Given the description of an element on the screen output the (x, y) to click on. 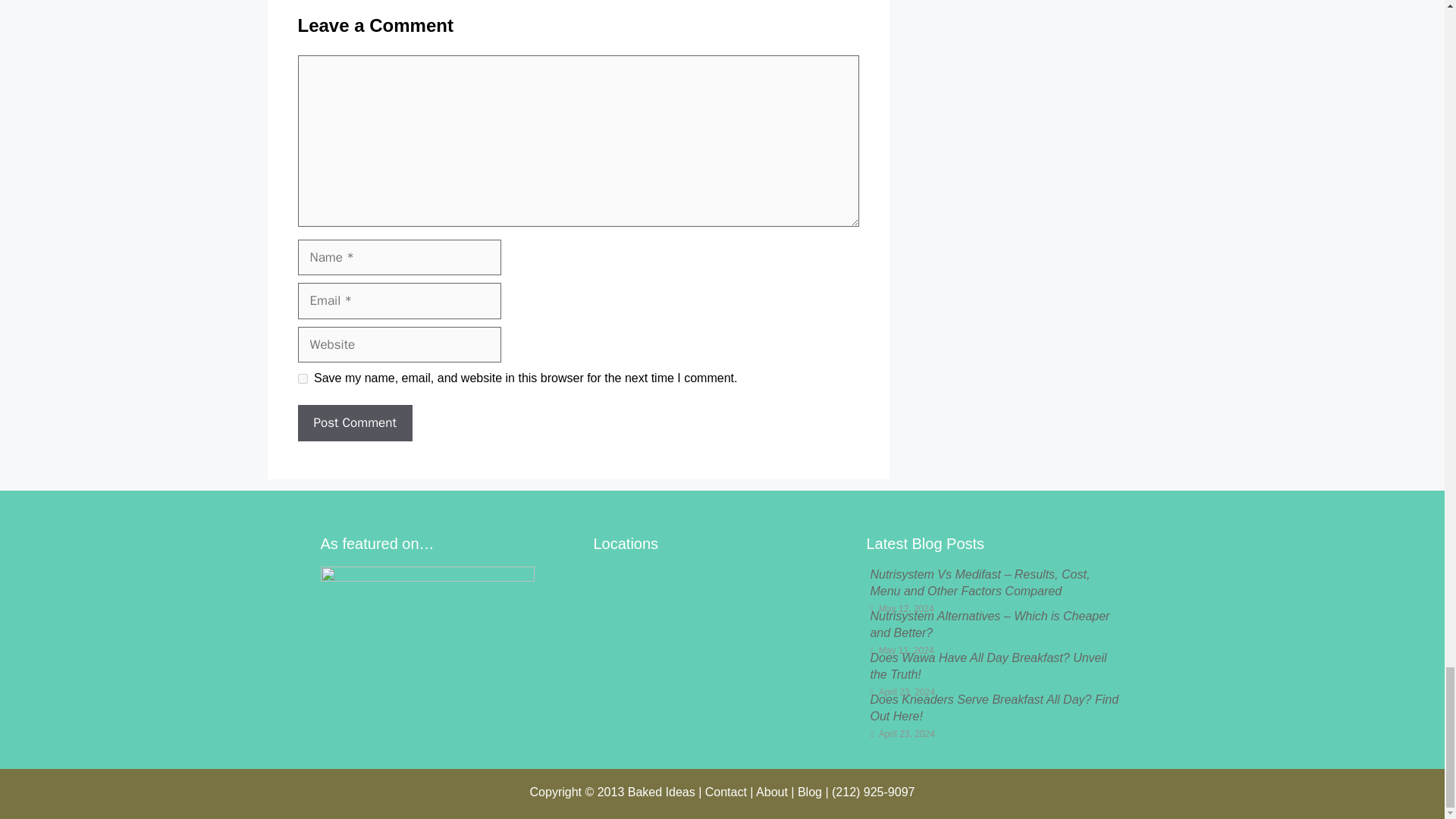
yes (302, 378)
London Eye, London, United Kingdom (721, 643)
Does Wawa Have All Day Breakfast? Unveil the Truth! (987, 665)
Post Comment (354, 422)
Does Kneaders Serve Breakfast All Day? Find Out Here! (993, 707)
Baked Ideas (661, 791)
